Given the description of an element on the screen output the (x, y) to click on. 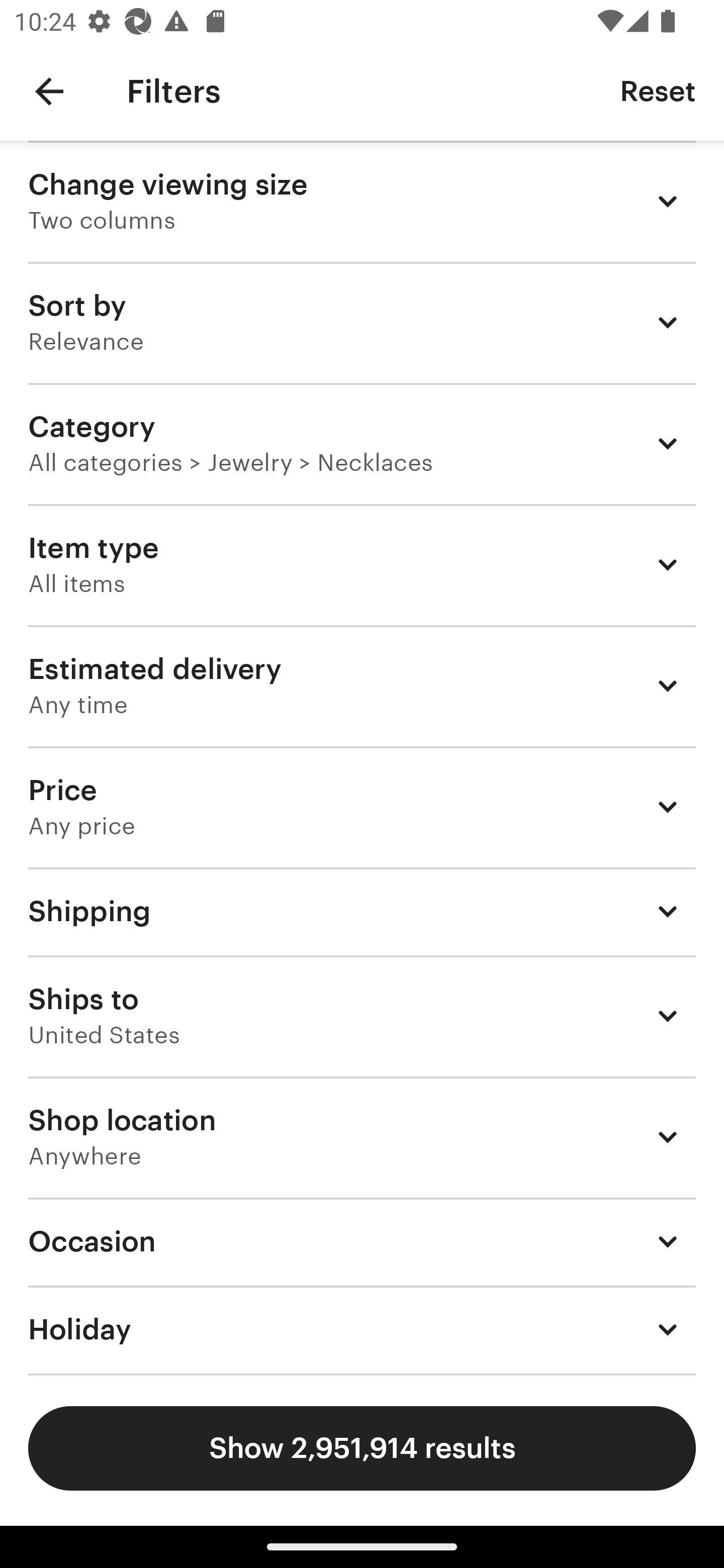
Navigate up (49, 91)
Reset (657, 90)
Change viewing size Two columns (362, 201)
Sort by Relevance (362, 321)
Category All categories > Jewelry > Necklaces (362, 442)
Item type All items (362, 564)
Estimated delivery Any time (362, 685)
Price Any price (362, 806)
Shipping (362, 910)
Ships to United States (362, 1015)
Shop location Anywhere (362, 1137)
Occasion (362, 1241)
Holiday (362, 1329)
Show 2,951,914 results Show results (361, 1448)
